Given the description of an element on the screen output the (x, y) to click on. 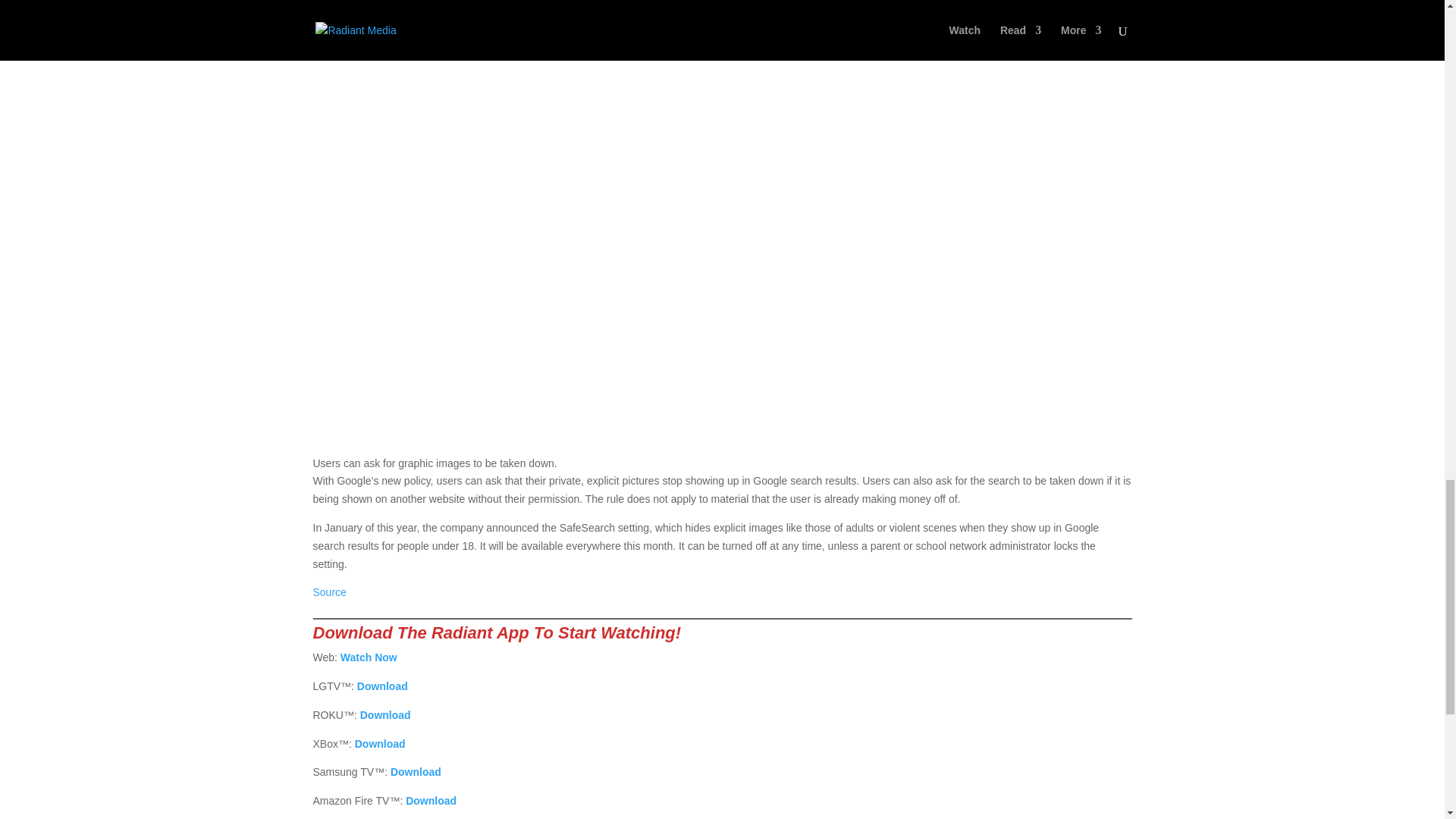
Watch Now (368, 657)
Download (415, 771)
Source (329, 592)
Download (380, 743)
Download (431, 800)
Download (384, 715)
Download (381, 686)
